Given the description of an element on the screen output the (x, y) to click on. 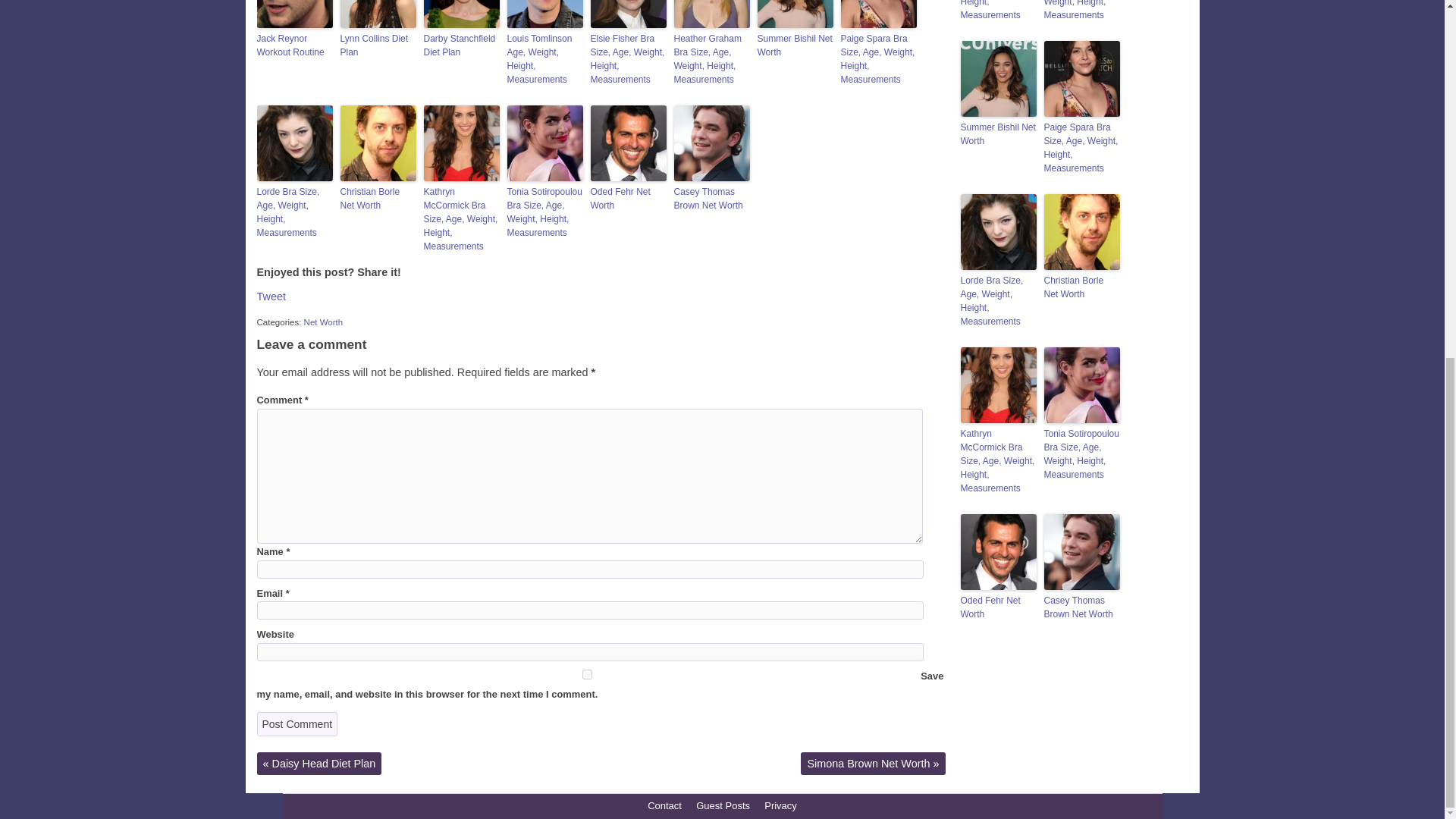
Jack Reynor Workout Routine (293, 44)
Christian Borle Net Worth (376, 198)
Louis Tomlinson Age, Weight, Height, Measurements (544, 58)
yes (586, 674)
Elsie Fisher Bra Size, Age, Weight, Height, Measurements (627, 58)
Heather Graham Bra Size, Age, Weight, Height, Measurements (710, 58)
Paige Spara Bra Size, Age, Weight, Height, Measurements (877, 58)
Lynn Collins Diet Plan (376, 44)
Lorde Bra Size, Age, Weight, Height, Measurements (293, 212)
Darby Stanchfield Diet Plan (461, 44)
